Given the description of an element on the screen output the (x, y) to click on. 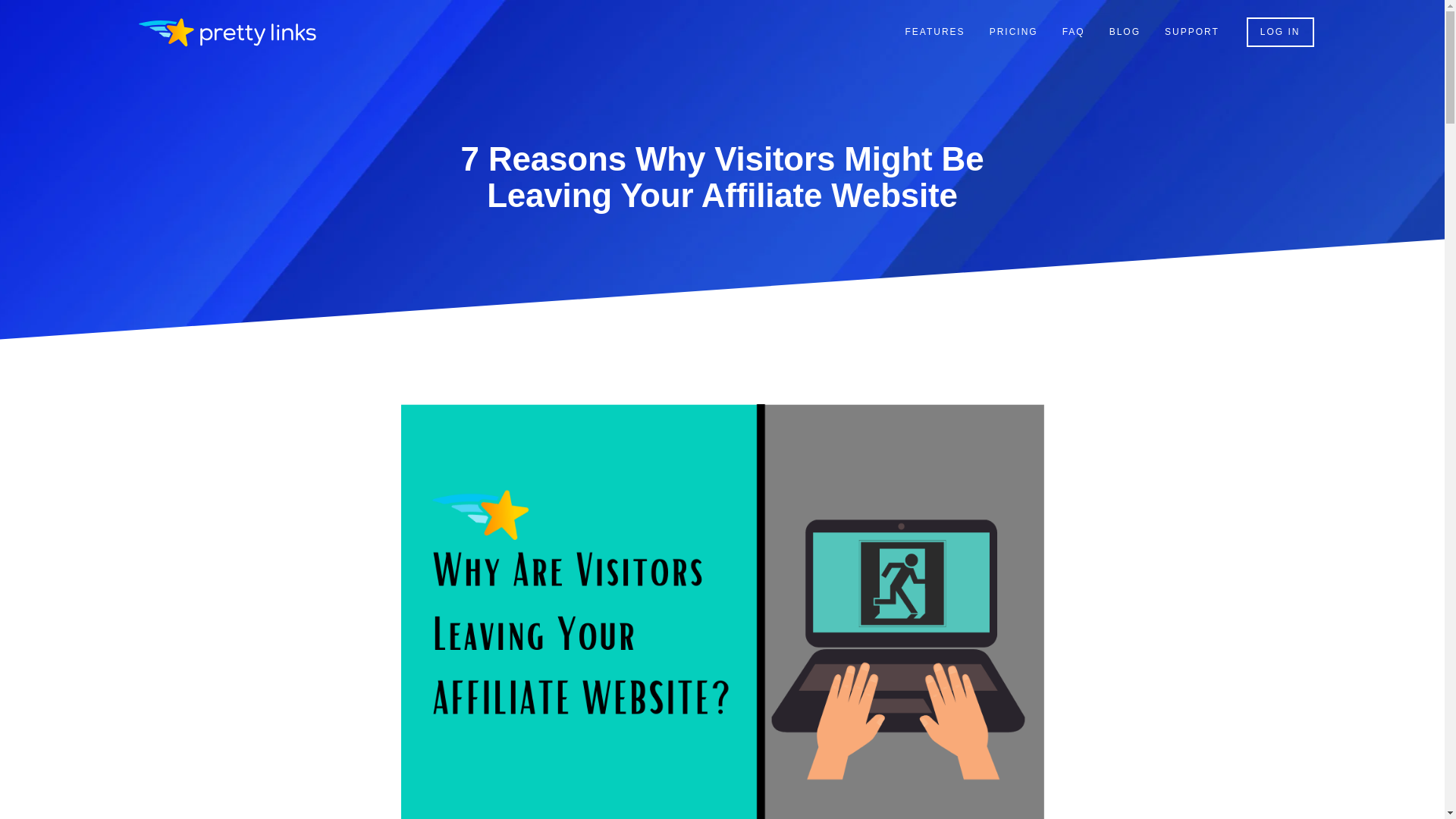
PRICING (1012, 31)
LOG IN (1280, 31)
BLOG (1125, 31)
FAQ (1073, 31)
SUPPORT (1192, 31)
FEATURES (934, 31)
